Given the description of an element on the screen output the (x, y) to click on. 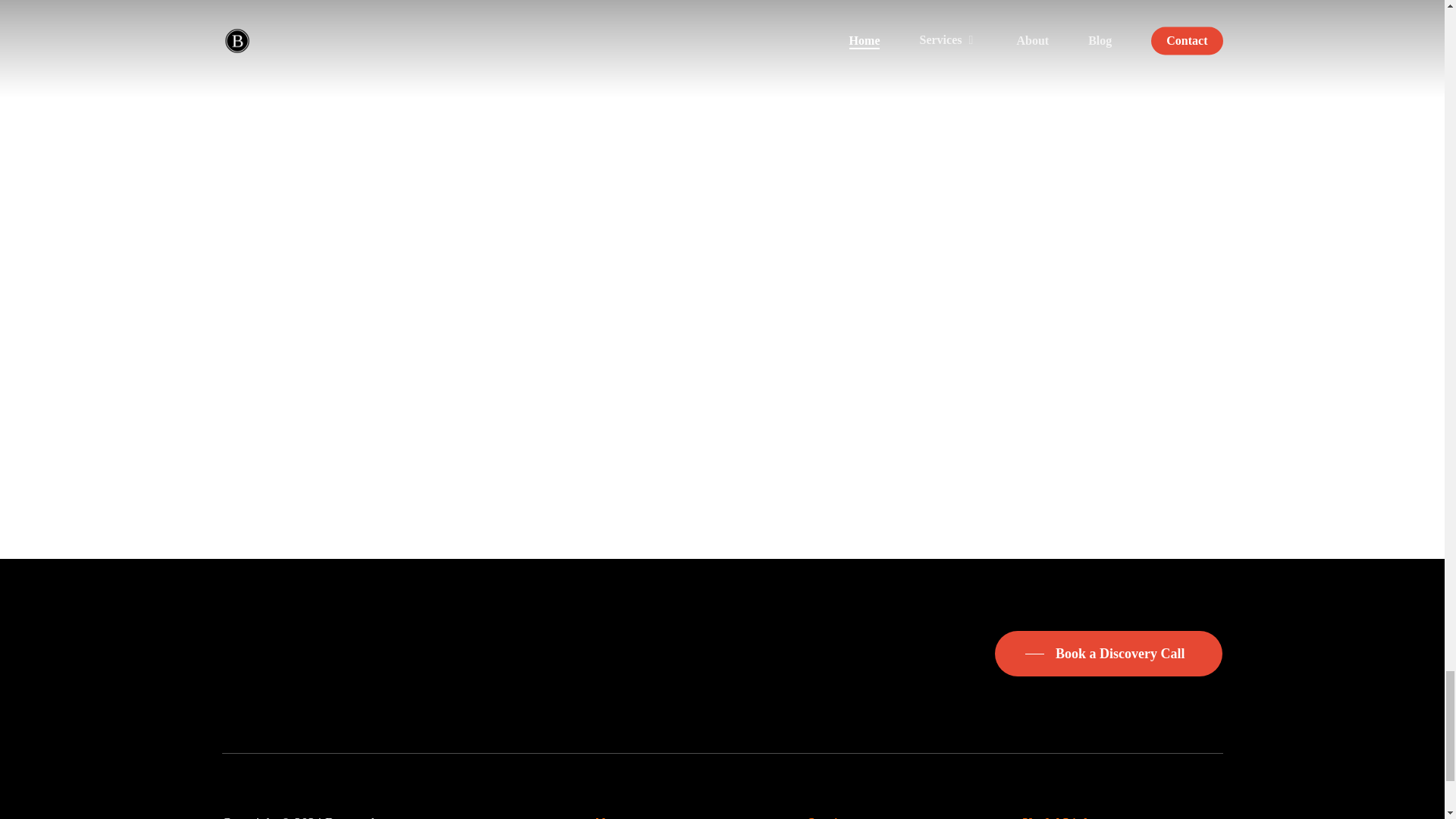
Book a Discovery Call (1108, 653)
